Given the description of an element on the screen output the (x, y) to click on. 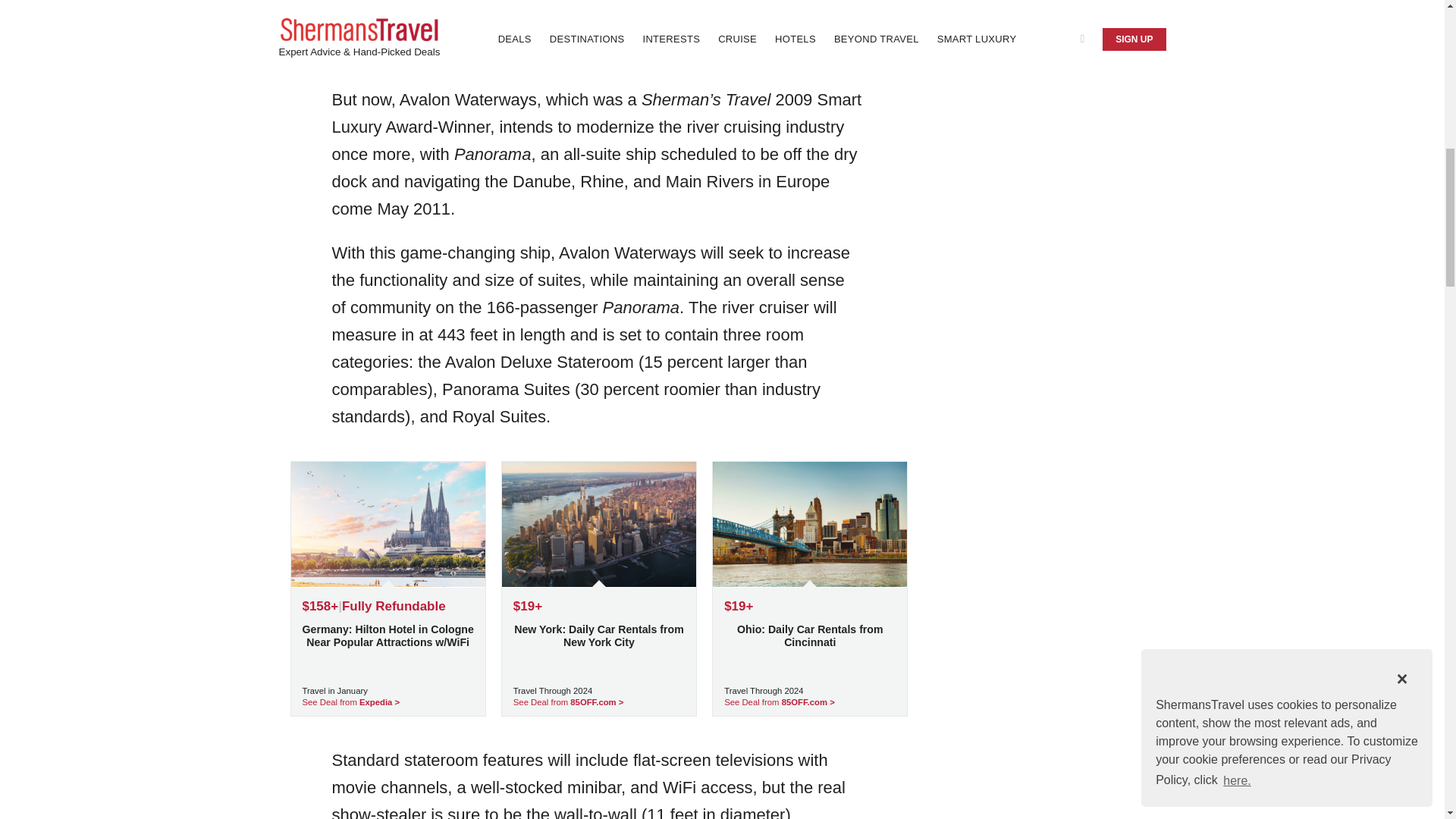
3rd party ad content (1052, 77)
3rd party ad content (1052, 525)
